Given the description of an element on the screen output the (x, y) to click on. 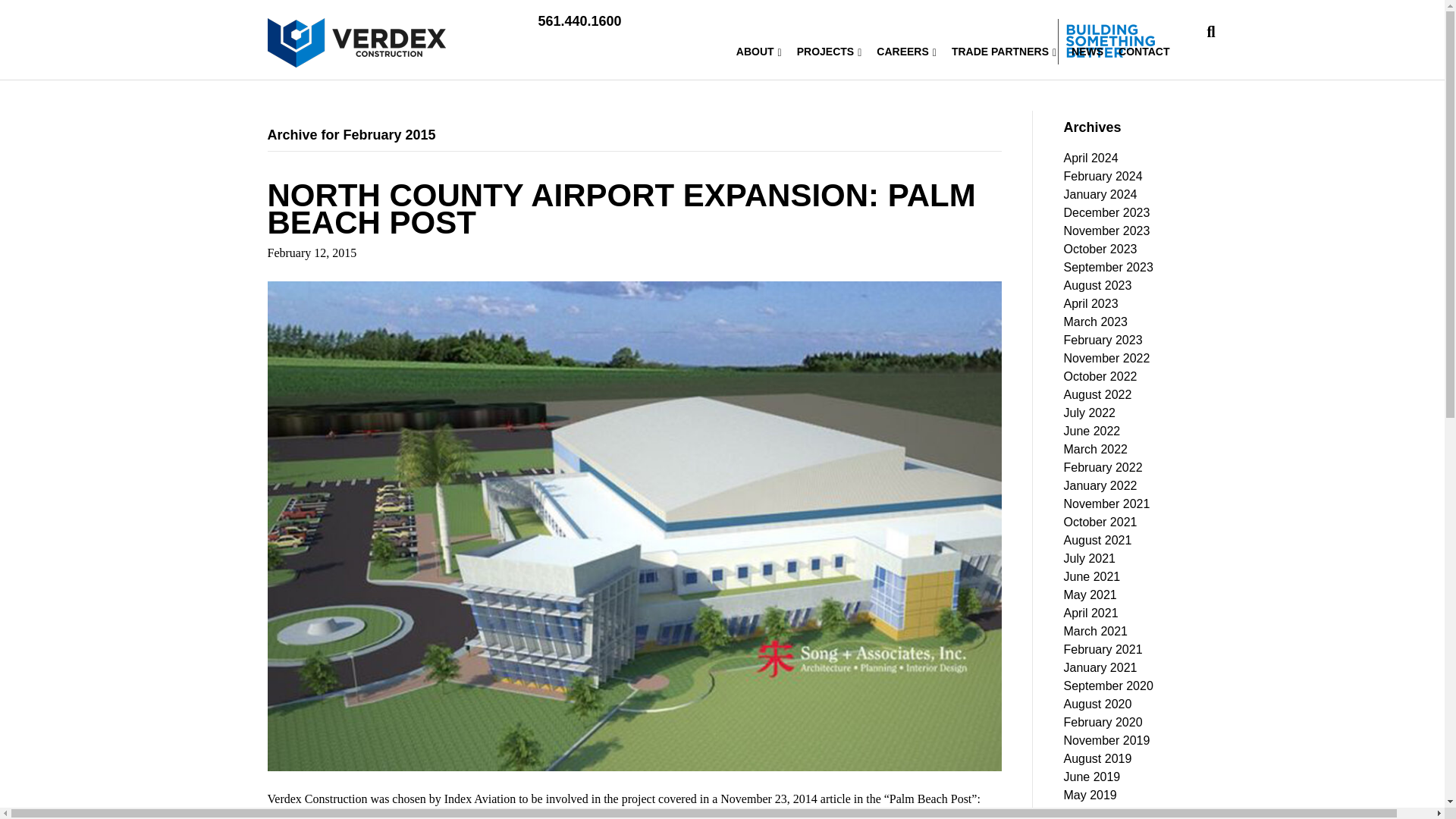
NORTH COUNTY AIRPORT EXPANSION: PALM BEACH POST (620, 208)
NORTH COUNTY AIRPORT EXPANSION: PALM BEACH POST (633, 524)
PROJECTS (829, 52)
ABOUT (759, 52)
